Given the description of an element on the screen output the (x, y) to click on. 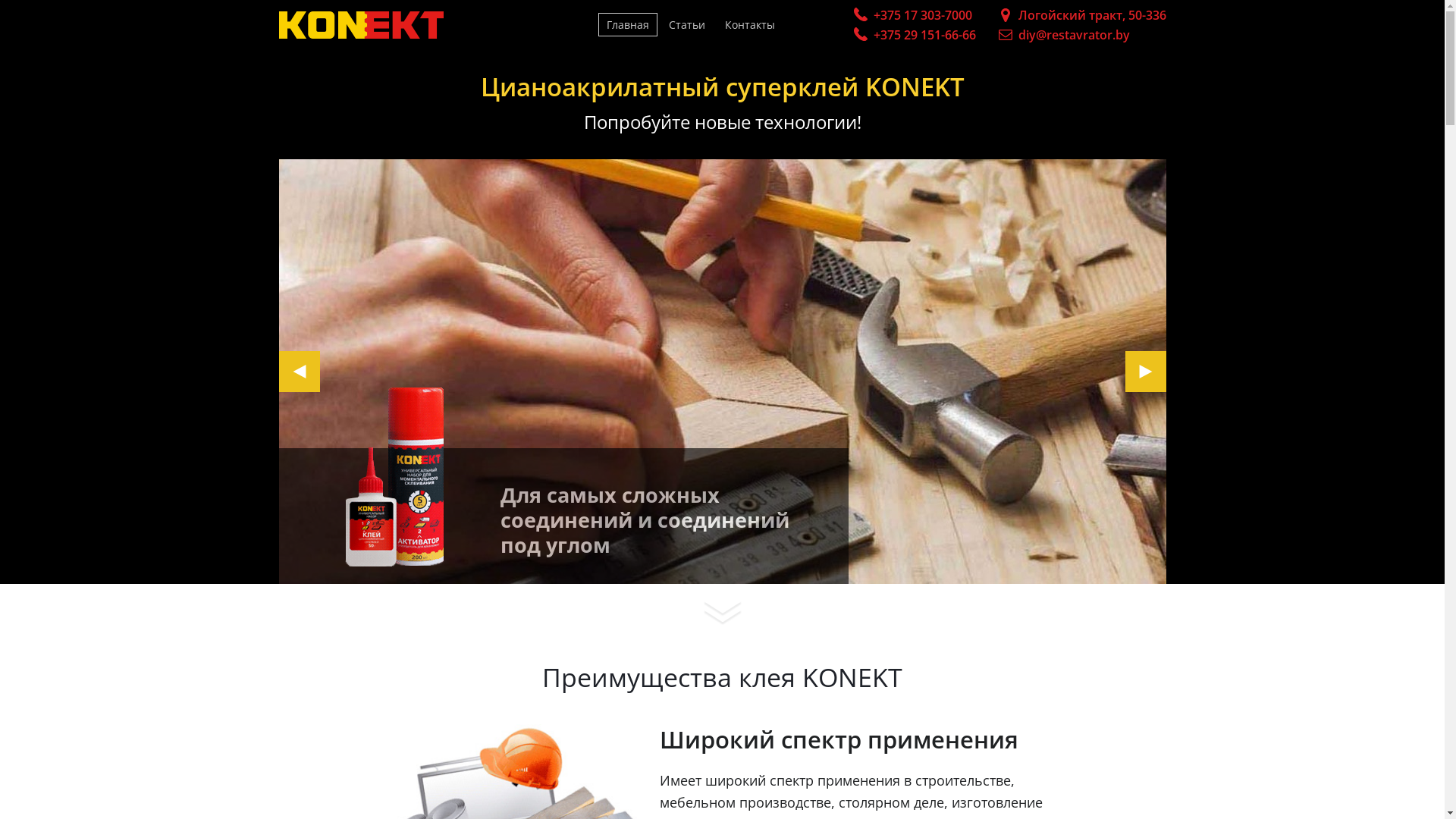
+375 29 151-66-66 Element type: text (914, 35)
+375 17 303-7000 Element type: text (914, 15)
diy@restavrator.by Element type: text (1073, 34)
